Given the description of an element on the screen output the (x, y) to click on. 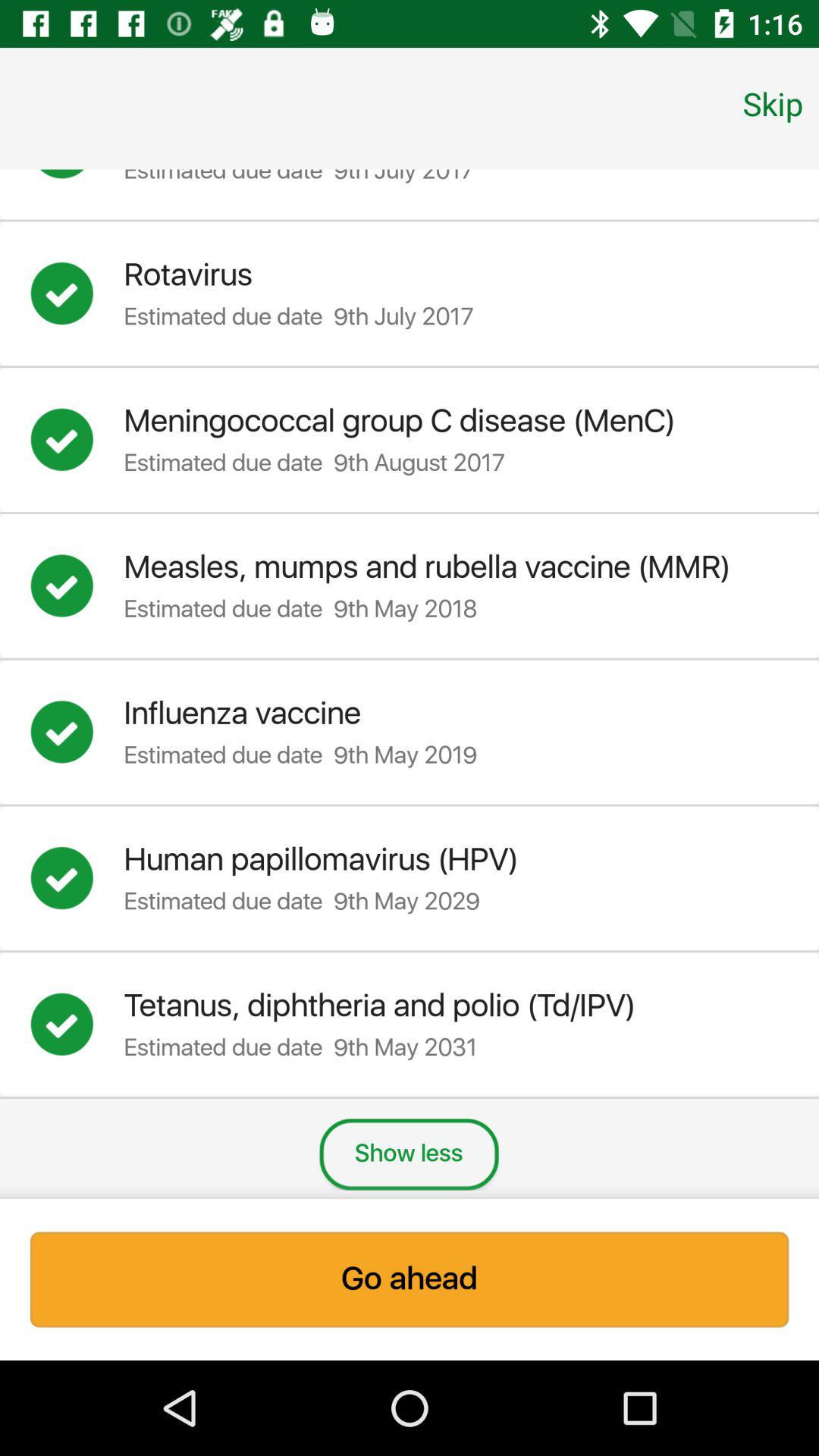
flip to the go ahead icon (409, 1279)
